Given the description of an element on the screen output the (x, y) to click on. 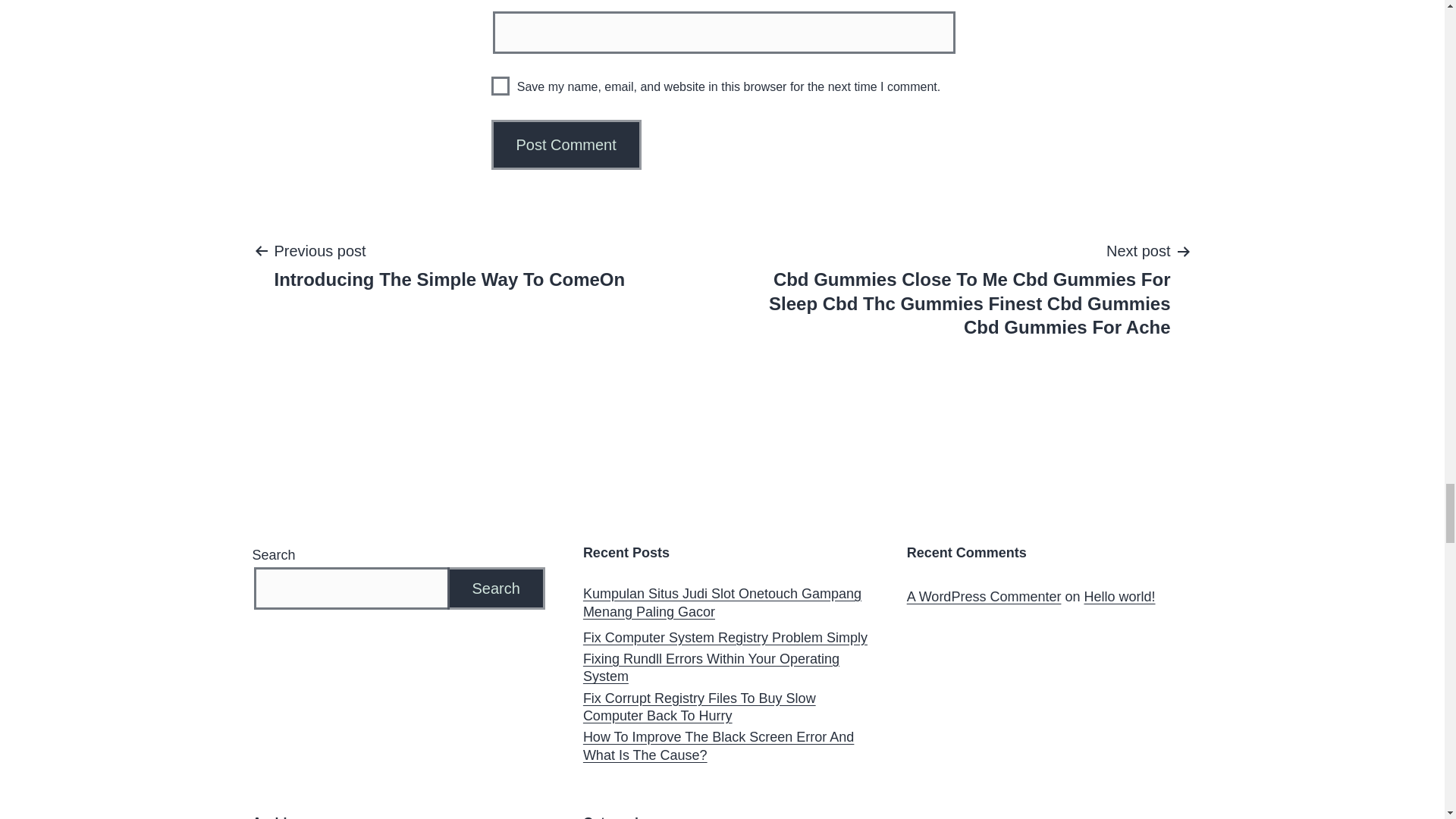
Hello world! (1118, 596)
Fixing Rundll Errors Within Your Operating System (448, 264)
Fix Computer System Registry Problem Simply (726, 668)
Post Comment (725, 638)
A WordPress Commenter (567, 144)
yes (984, 596)
Post Comment (500, 85)
